Given the description of an element on the screen output the (x, y) to click on. 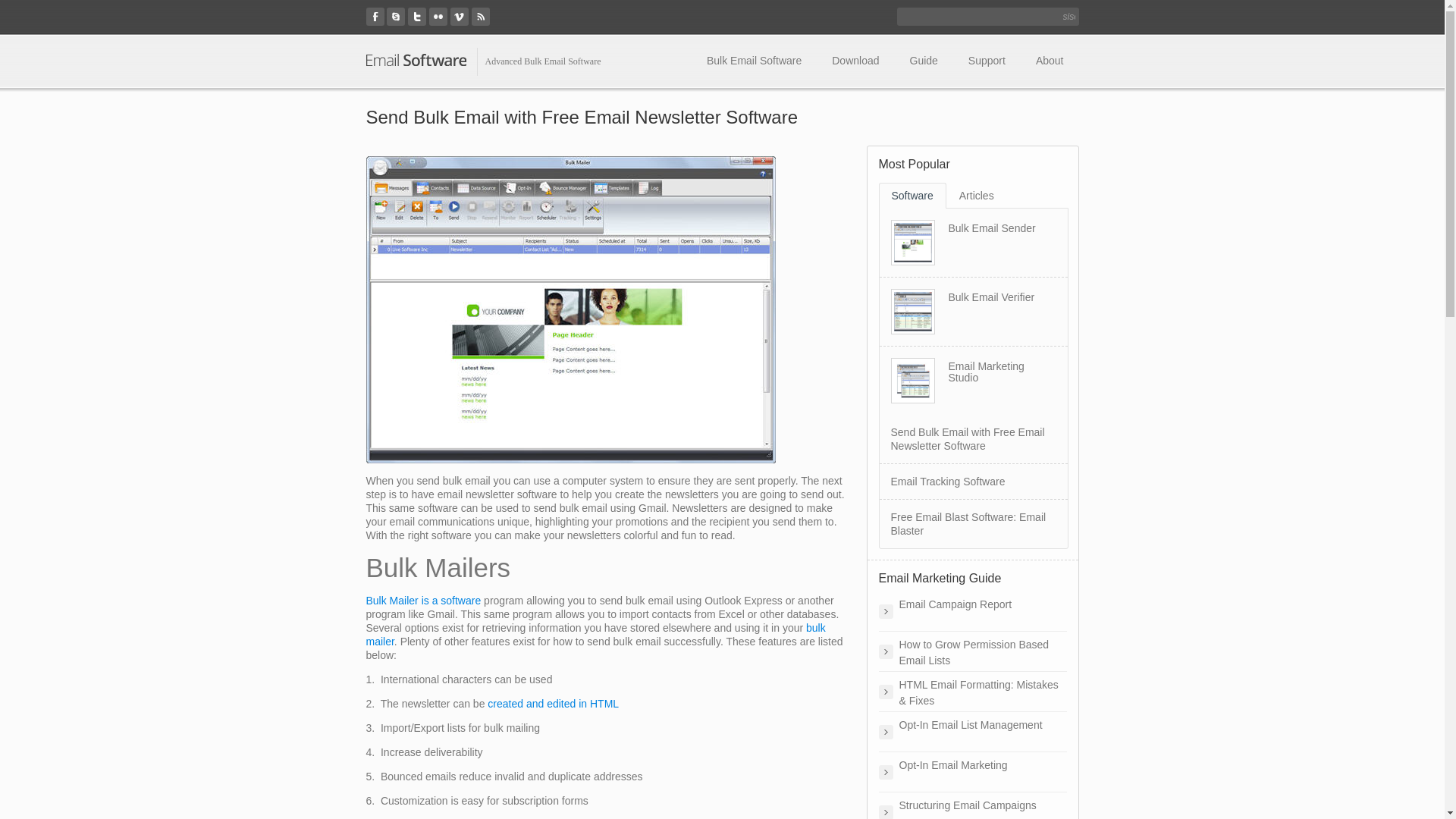
Opt-In Email Marketing Element type: text (972, 771)
sisea.search Element type: text (1069, 16)
Bulk Mailer is a software Element type: text (422, 600)
Email Campaign Report Element type: text (972, 610)
Facebook Element type: hover (374, 16)
Bulk Email Verifier Element type: text (990, 297)
Email Tracking Software Element type: text (947, 481)
created and edited in HTML Element type: text (552, 703)
HTML Email Formatting: Mistakes & Fixes Element type: text (972, 691)
Dribbble Element type: hover (480, 16)
Support Element type: text (986, 60)
Free Email Blast Software: Email Blaster Element type: text (967, 523)
Download Element type: text (855, 60)
About Element type: text (1049, 60)
Articles Element type: text (976, 194)
How to Grow Permission Based Email Lists Element type: text (972, 651)
Bulk Email Software Element type: text (753, 60)
Send Bulk Email with Free Email Newsletter Software Element type: text (967, 438)
Software Element type: text (911, 195)
Bulk Email Software - 32bit Element type: hover (416, 59)
Flickr Element type: hover (438, 16)
Email Marketing Studio Element type: text (985, 371)
Bulk Email Sender Element type: text (991, 228)
Twitter Element type: hover (416, 16)
Guide Element type: text (923, 60)
Opt-In Email List Management Element type: text (972, 731)
bulk mailer Element type: text (595, 634)
Vimeo Element type: hover (459, 16)
Skype Element type: hover (395, 16)
